Given the description of an element on the screen output the (x, y) to click on. 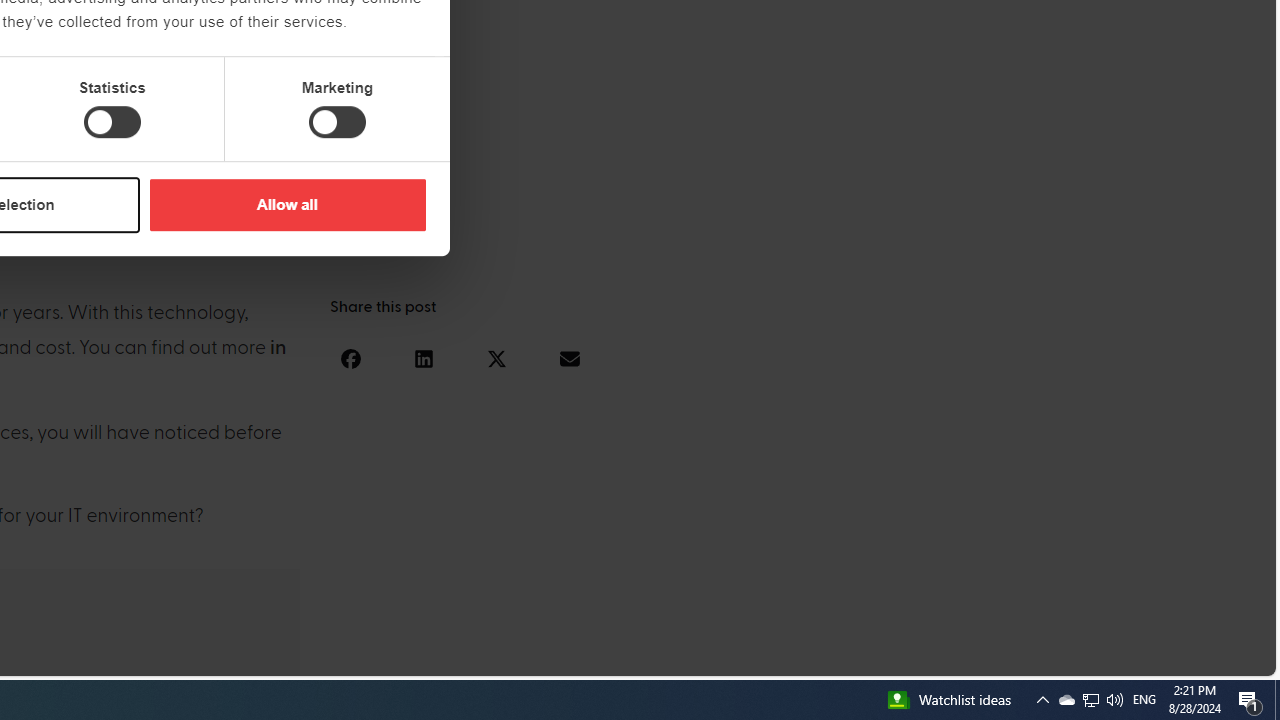
Language switcher : Slovenian (1066, 657)
Language switcher : French (906, 657)
Language switcher : Italian (945, 657)
Language switcher : Danish (1025, 657)
Language switcher : Klingon (1226, 657)
Share on email (569, 358)
Language switcher : Croatian (1045, 657)
Share on x-twitter (496, 358)
Language switcher : Polish (1005, 657)
Language switcher : Finnish (1165, 657)
